Given the description of an element on the screen output the (x, y) to click on. 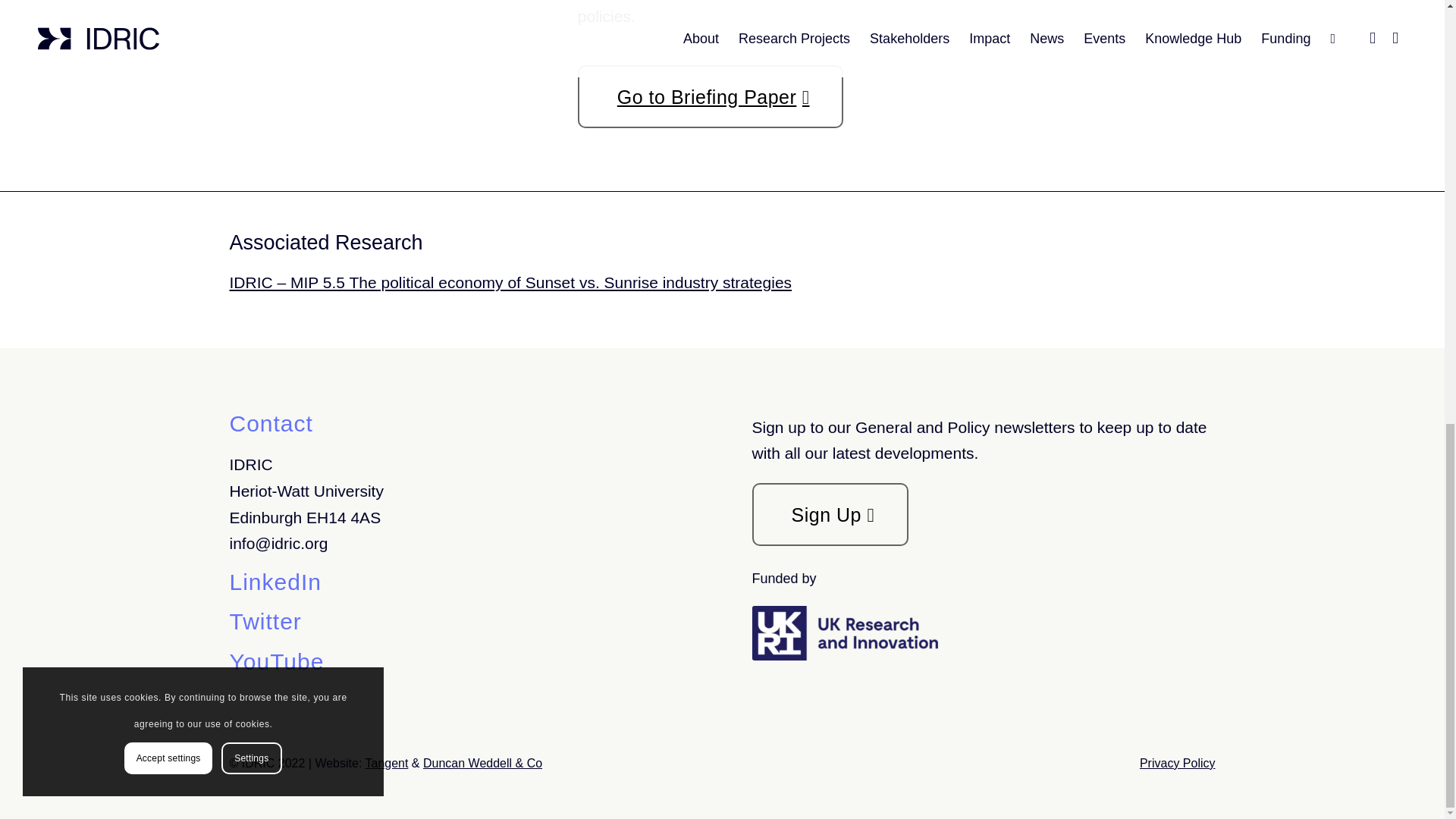
Go to Briefing Paper (710, 96)
